Given the description of an element on the screen output the (x, y) to click on. 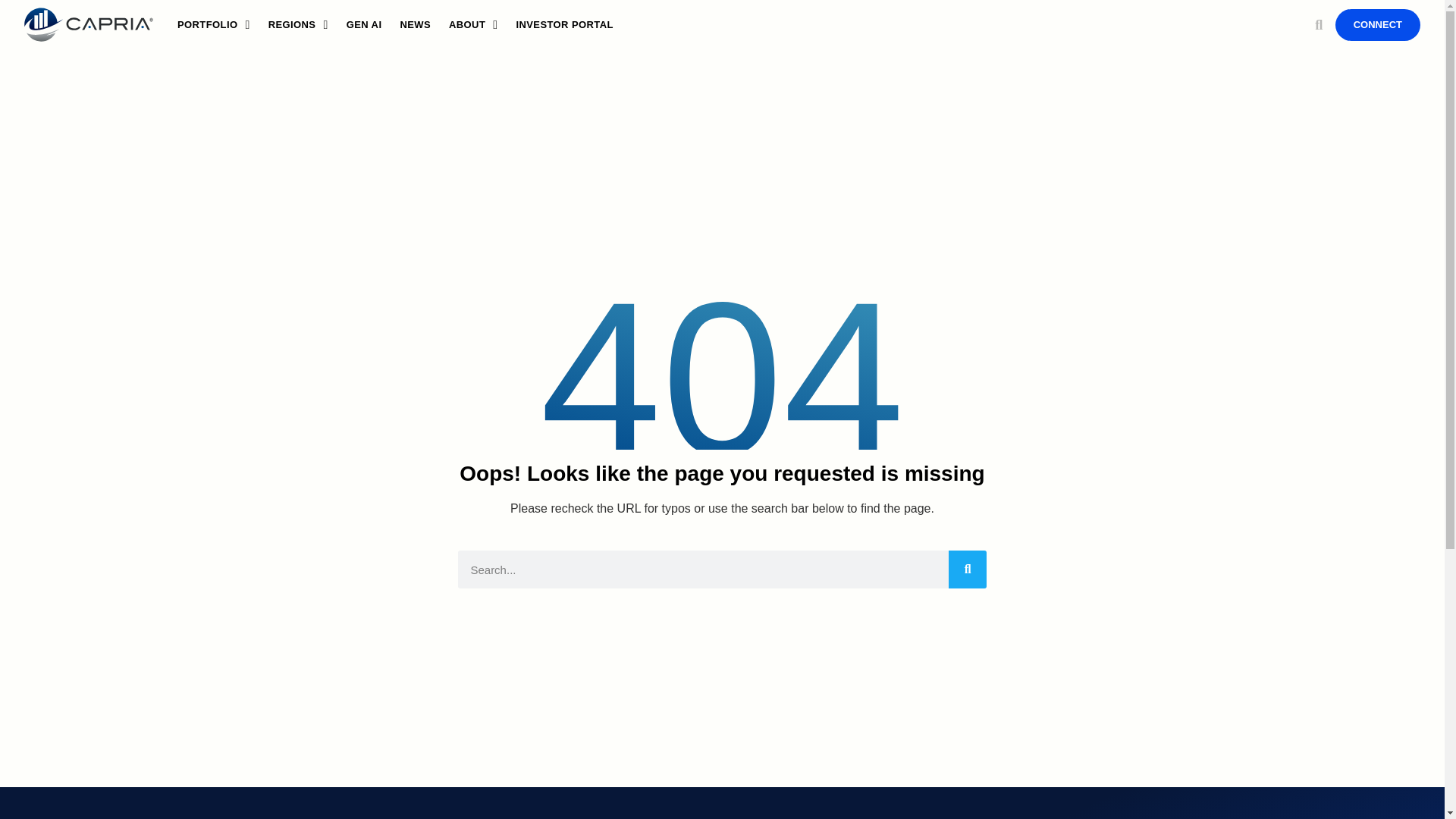
PORTFOLIO (213, 24)
REGIONS (298, 24)
NEWS (414, 24)
INVESTOR PORTAL (563, 24)
ABOUT (472, 24)
CONNECT (1378, 24)
GEN AI (364, 24)
